Given the description of an element on the screen output the (x, y) to click on. 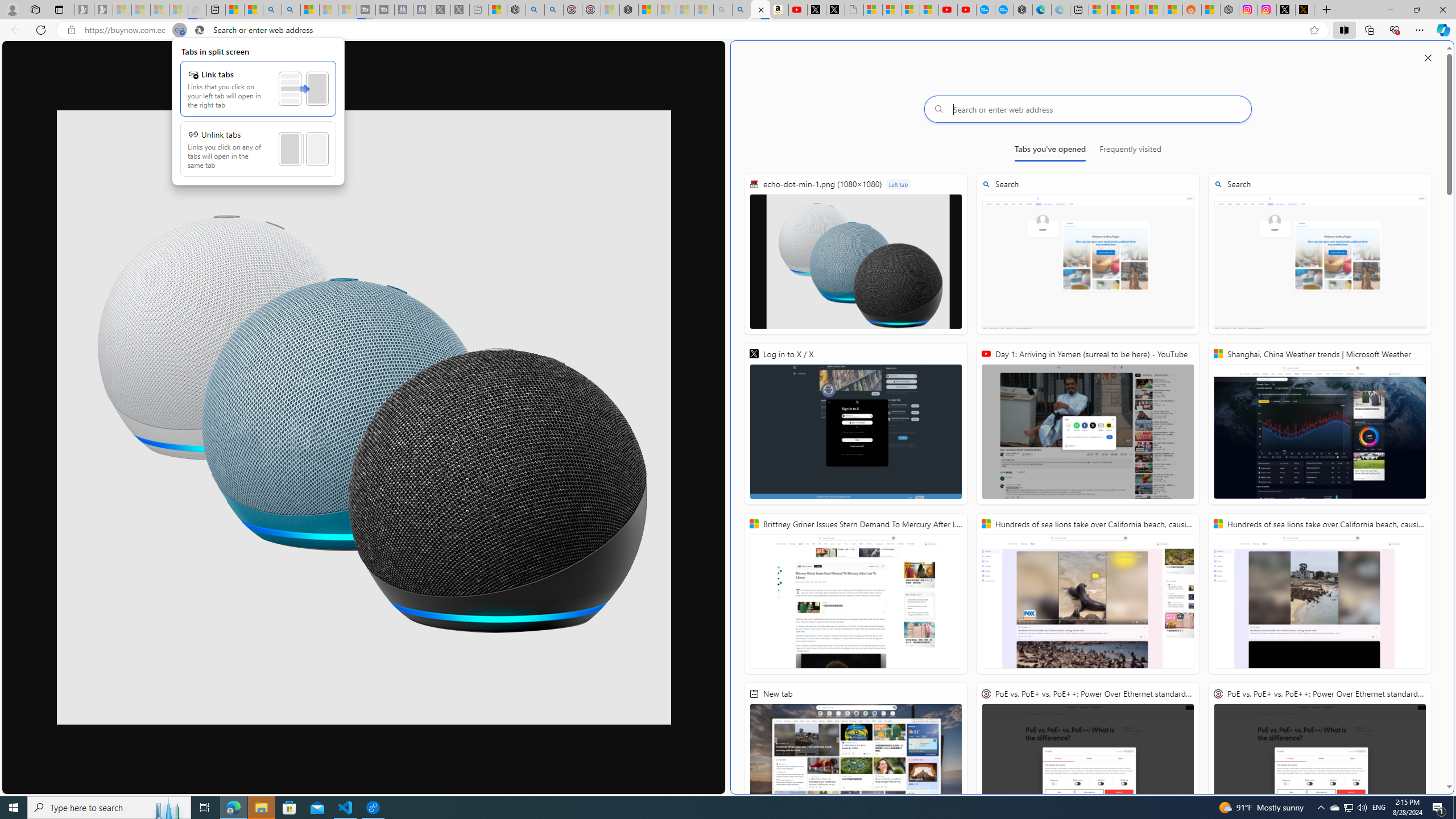
Link tabs (258, 88)
Shanghai, China hourly forecast | Microsoft Weather (1135, 9)
